Given the description of an element on the screen output the (x, y) to click on. 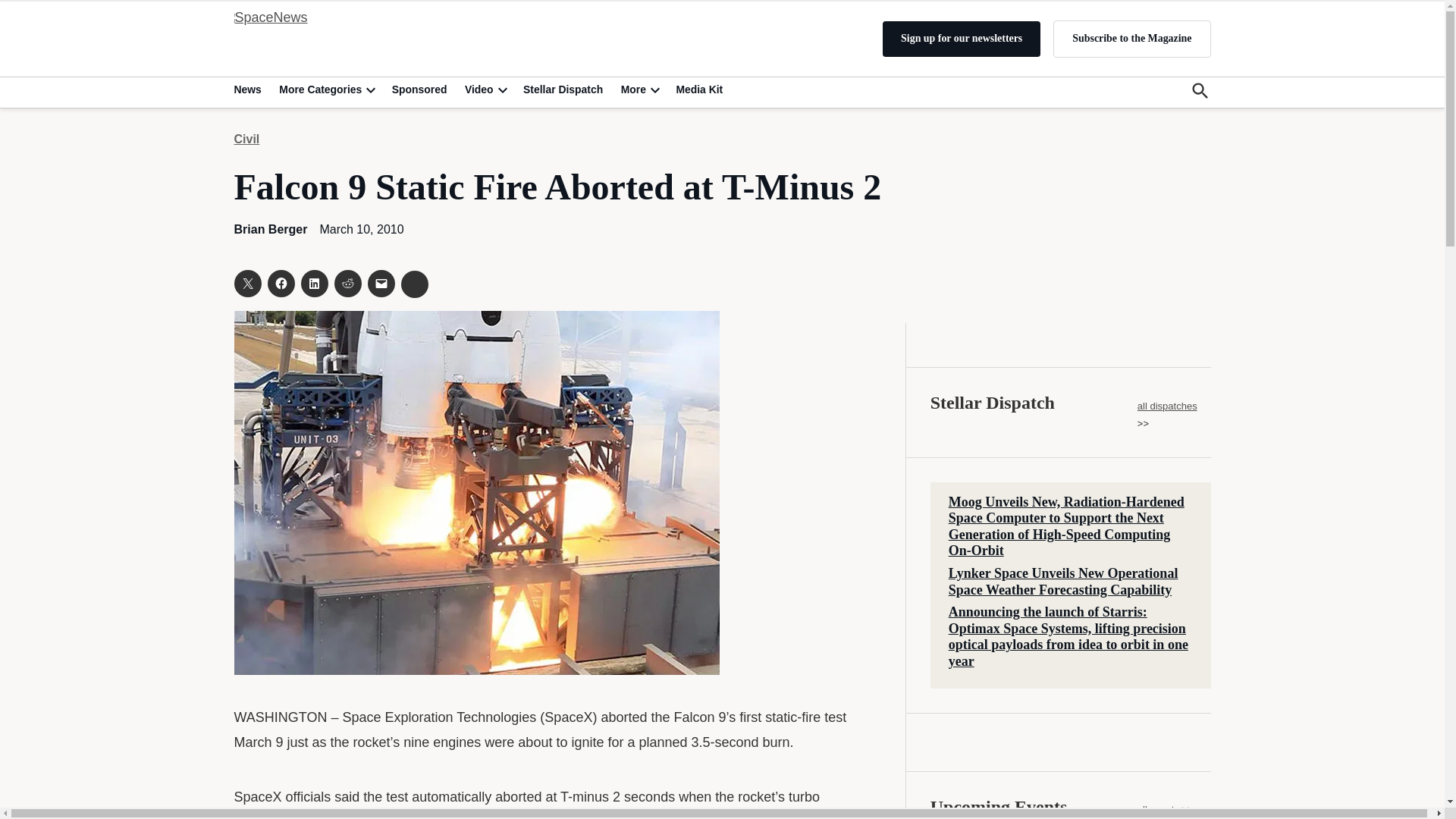
Sign up for our newsletters (961, 38)
Click to share on Facebook (280, 283)
Click to share on LinkedIn (313, 283)
Click to share on X (246, 283)
Click to email a link to a friend (380, 283)
Click to share on Clipboard (414, 284)
Subscribe to the Magazine (1130, 38)
Click to share on Reddit (347, 283)
